Given the description of an element on the screen output the (x, y) to click on. 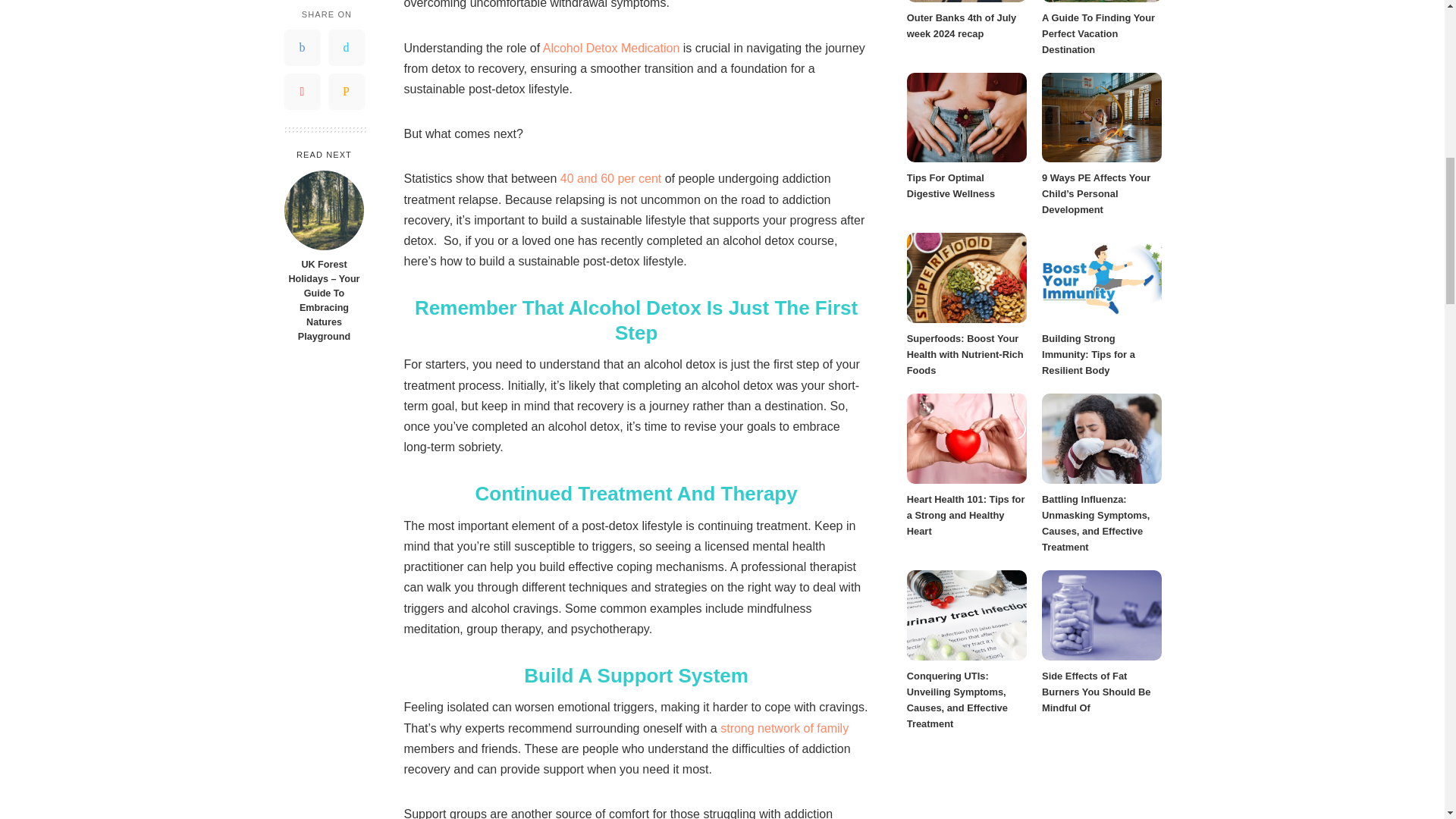
Email (345, 16)
40 and 60 per cent (610, 178)
strong network of family (784, 727)
Alcohol Detox Medication (611, 47)
Pinterest (301, 16)
